Given the description of an element on the screen output the (x, y) to click on. 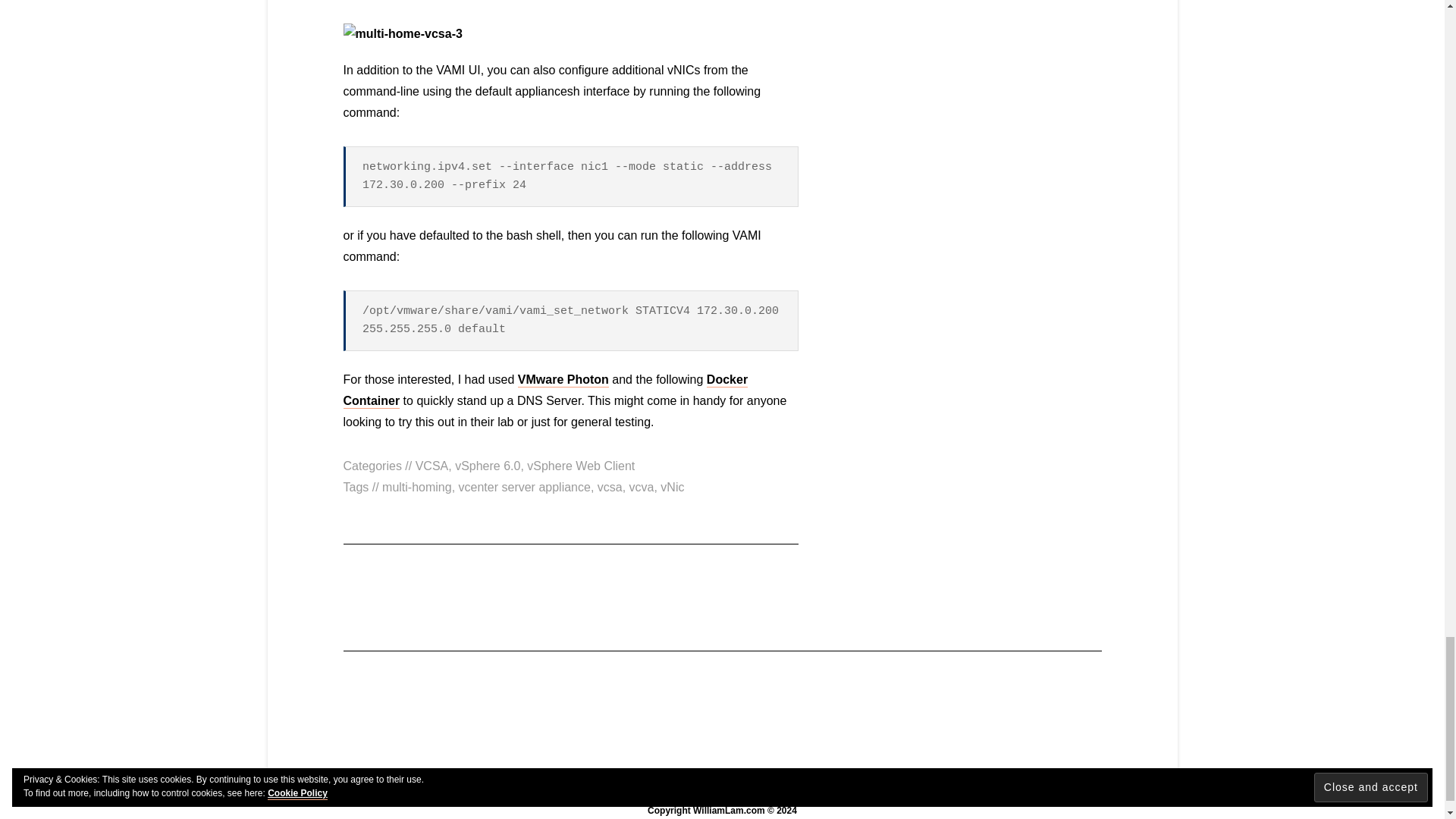
Docker Container (545, 390)
VCSA (431, 465)
vcsa (609, 486)
VMware Photon (563, 380)
vNic (672, 486)
vcenter server appliance (524, 486)
vcva (640, 486)
vSphere Web Client (580, 465)
vSphere 6.0 (486, 465)
multi-homing (416, 486)
